Given the description of an element on the screen output the (x, y) to click on. 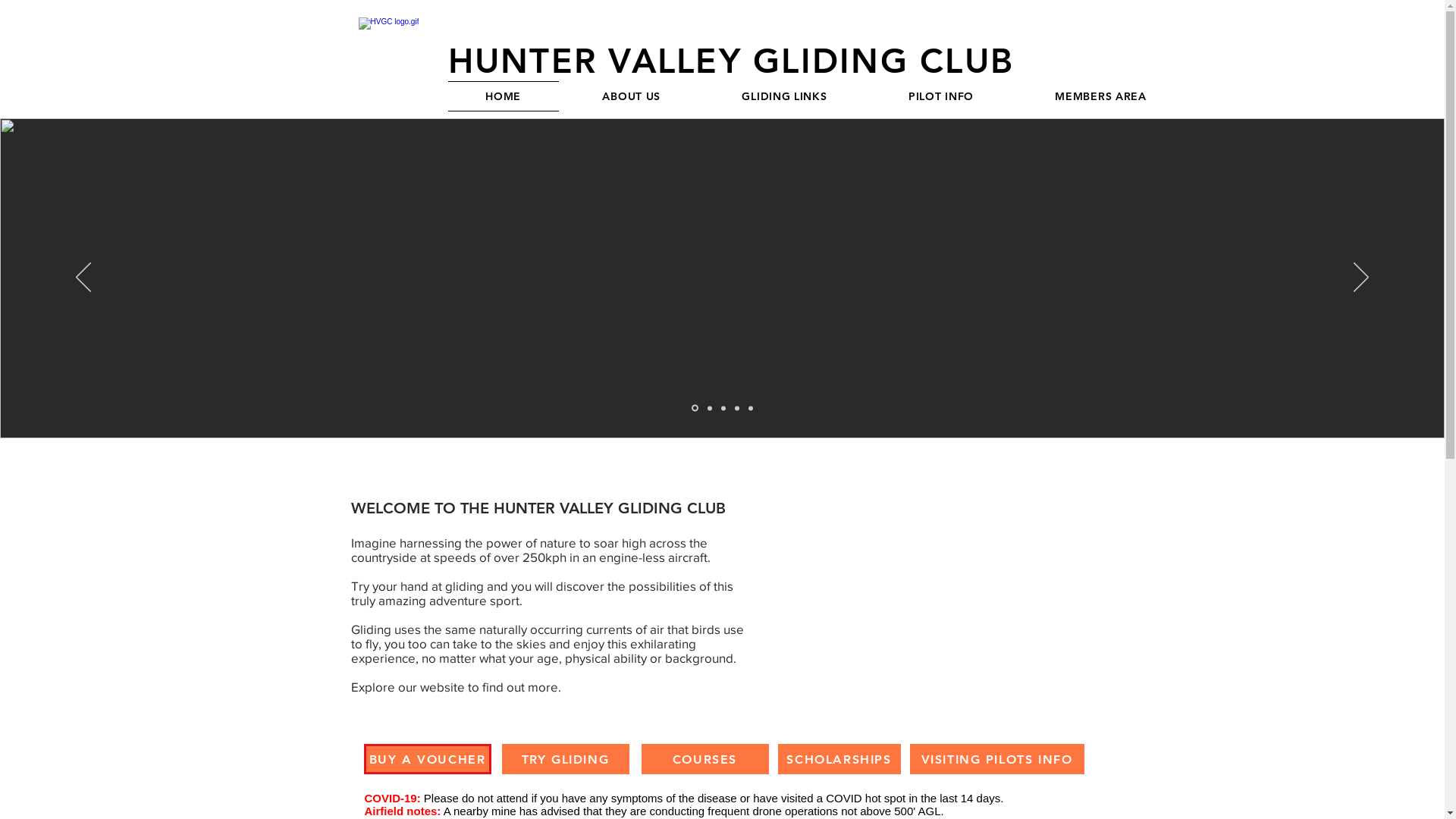
COURSES Element type: text (704, 758)
SCHOLARSHIPS Element type: text (839, 758)
VISITING PILOTS INFO Element type: text (997, 758)
BUY A VOUCHER Element type: text (427, 758)
MEMBERS AREA Element type: text (1100, 96)
TRY GLIDING Element type: text (565, 758)
HUNTER VALLEY GLIDING CLUB Element type: text (730, 60)
HOME Element type: text (502, 96)
